Given the description of an element on the screen output the (x, y) to click on. 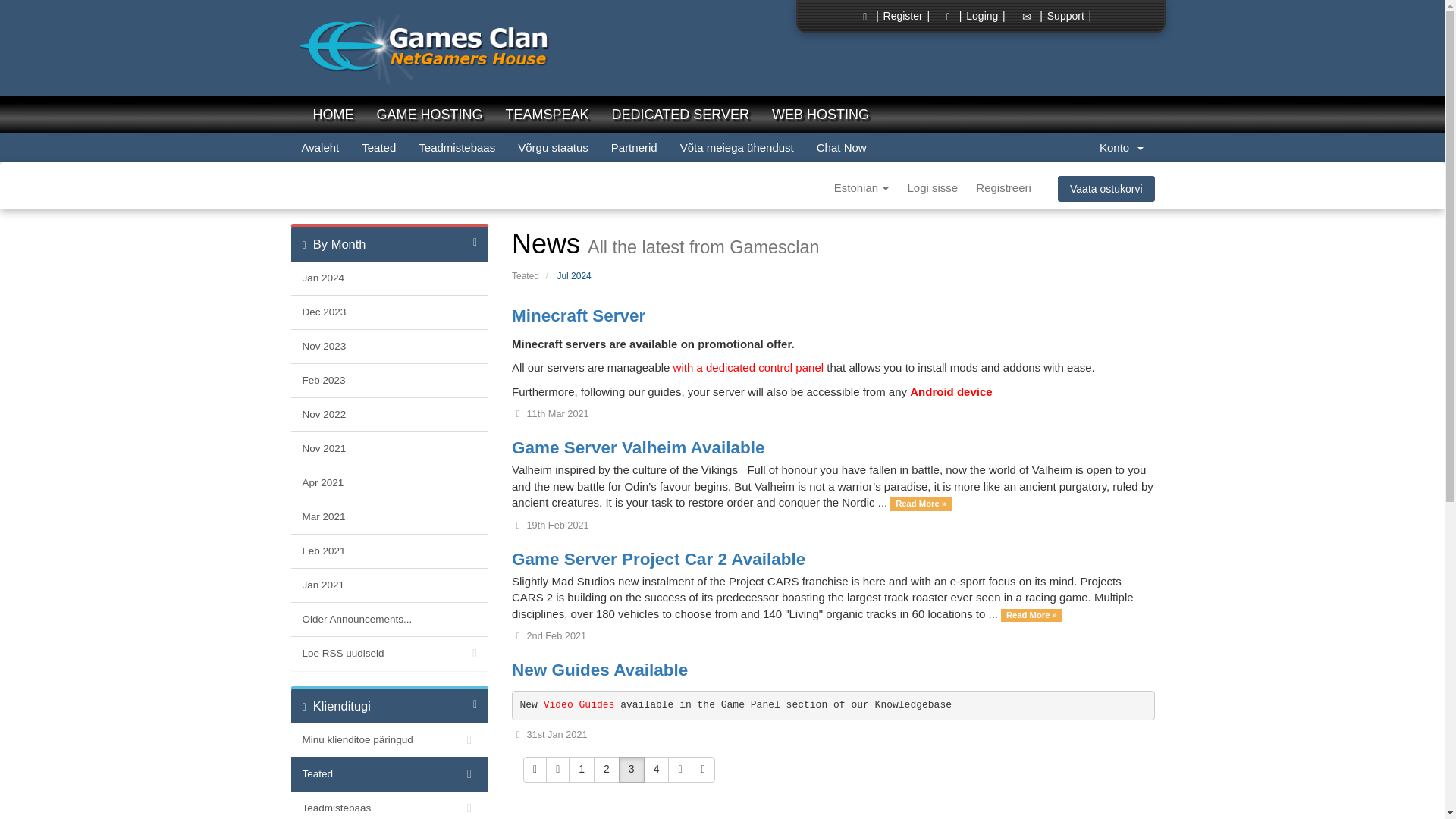
TEAMSPEAK (547, 114)
Estonian (861, 187)
Konto   (1120, 147)
Teadmistebaas (456, 147)
Partnerid (633, 147)
Chat Now (841, 147)
HOME (333, 114)
Teated (378, 147)
WEB HOSTING (820, 114)
Avaleht (319, 147)
GAME HOSTING (430, 114)
DEDICATED SERVER (679, 114)
